Given the description of an element on the screen output the (x, y) to click on. 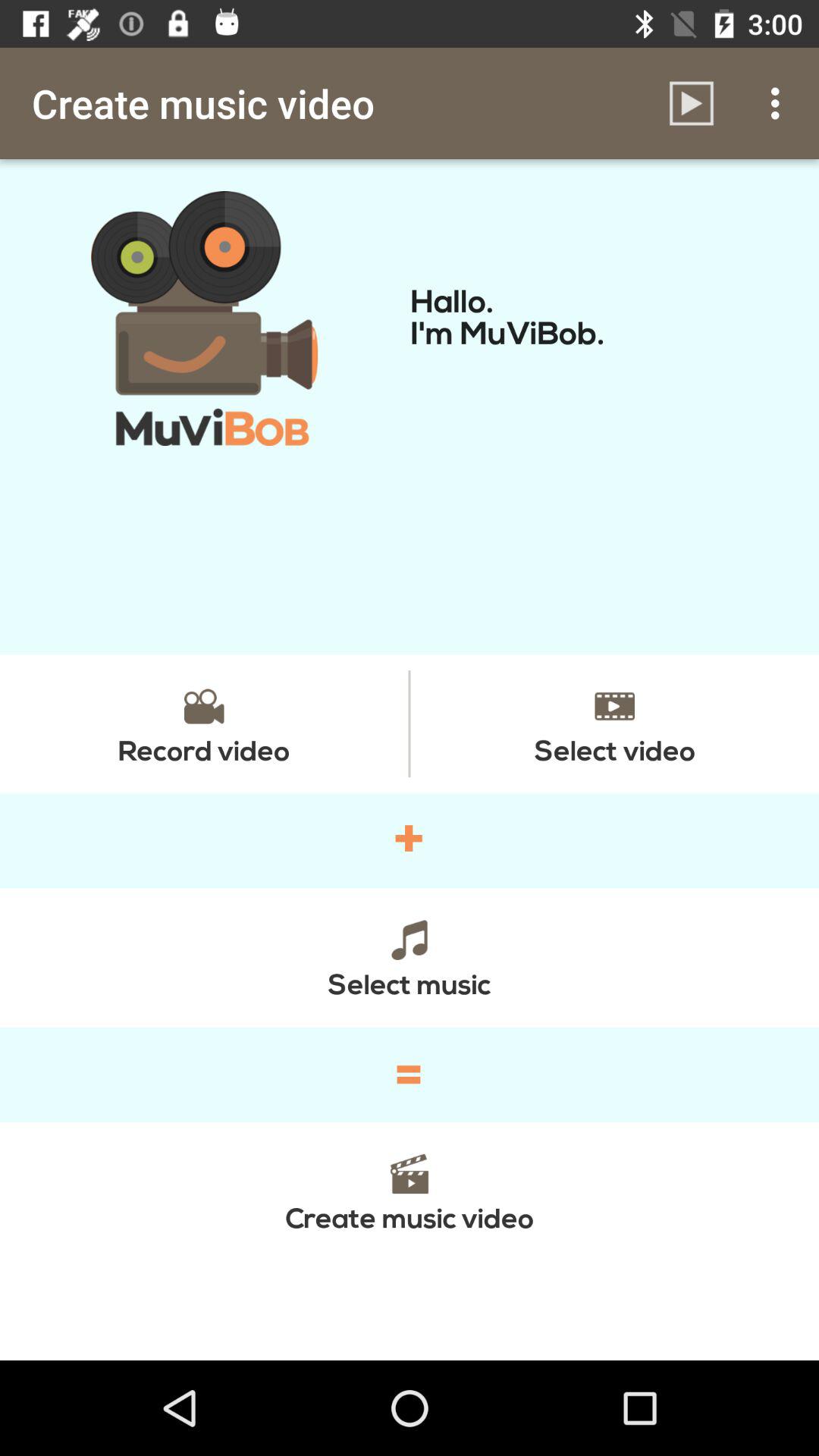
tap icon below + icon (409, 957)
